Given the description of an element on the screen output the (x, y) to click on. 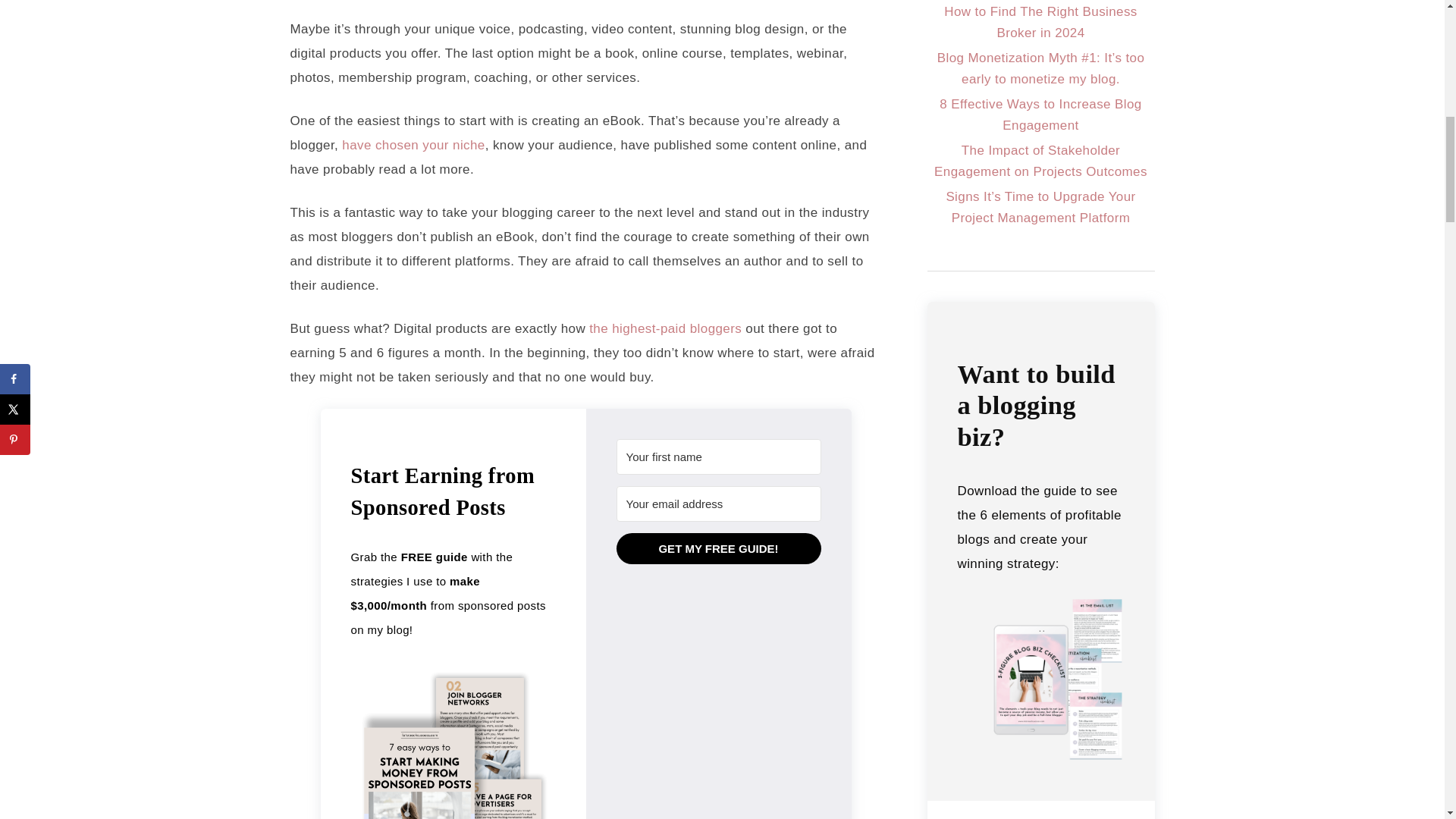
the highest-paid bloggers (665, 328)
How to Find The Right Business Broker in 2024 (1040, 22)
GET MY FREE GUIDE! (718, 548)
have chosen your niche (413, 145)
